Given the description of an element on the screen output the (x, y) to click on. 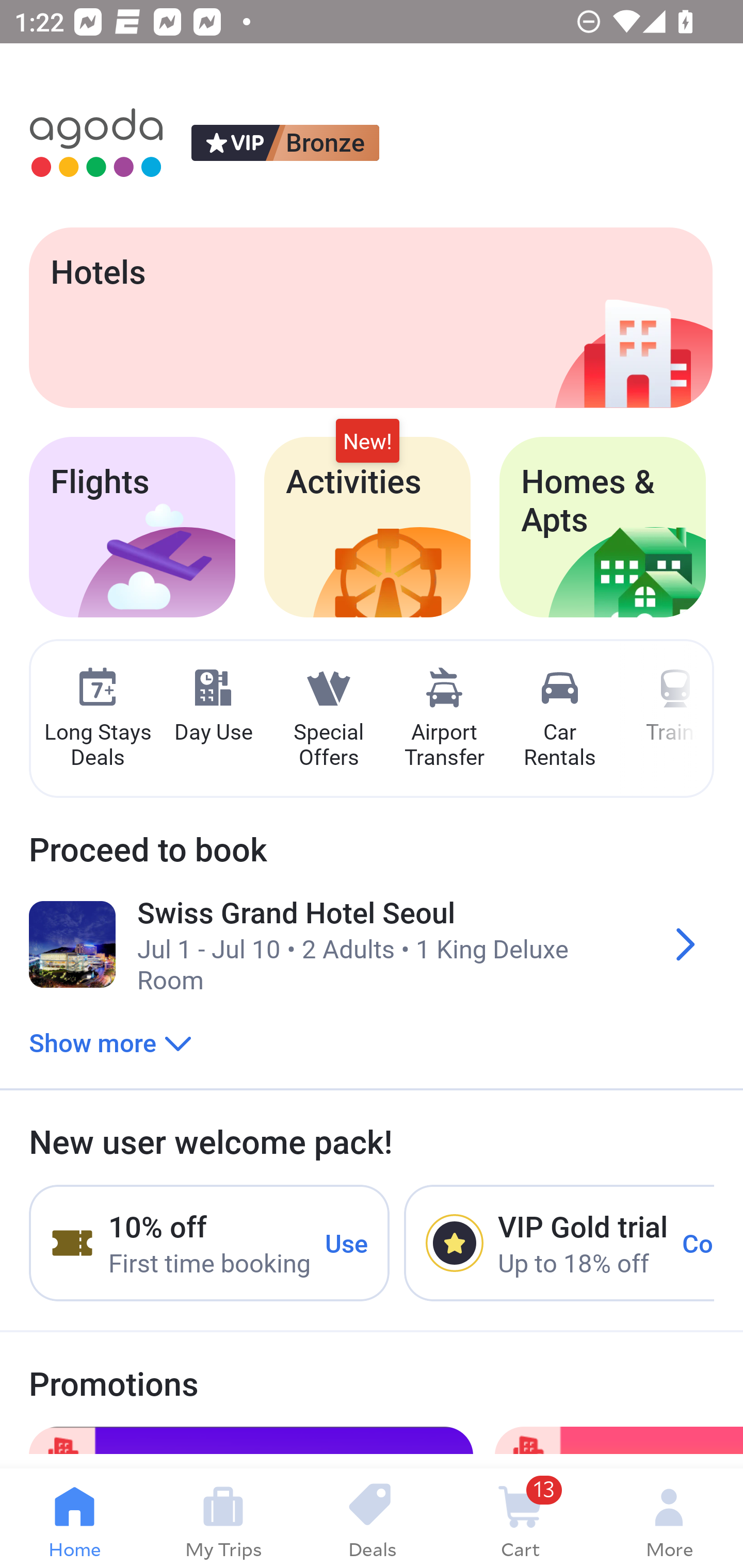
Hotels (370, 317)
New! (367, 441)
Flights (131, 527)
Activities (367, 527)
Homes & Apts (602, 527)
Day Use (213, 706)
Long Stays Deals (97, 718)
Special Offers (328, 718)
Airport Transfer (444, 718)
Car Rentals (559, 718)
Show more (110, 1041)
Use (346, 1242)
Home (74, 1518)
My Trips (222, 1518)
Deals (371, 1518)
13 Cart (519, 1518)
More (668, 1518)
